Given the description of an element on the screen output the (x, y) to click on. 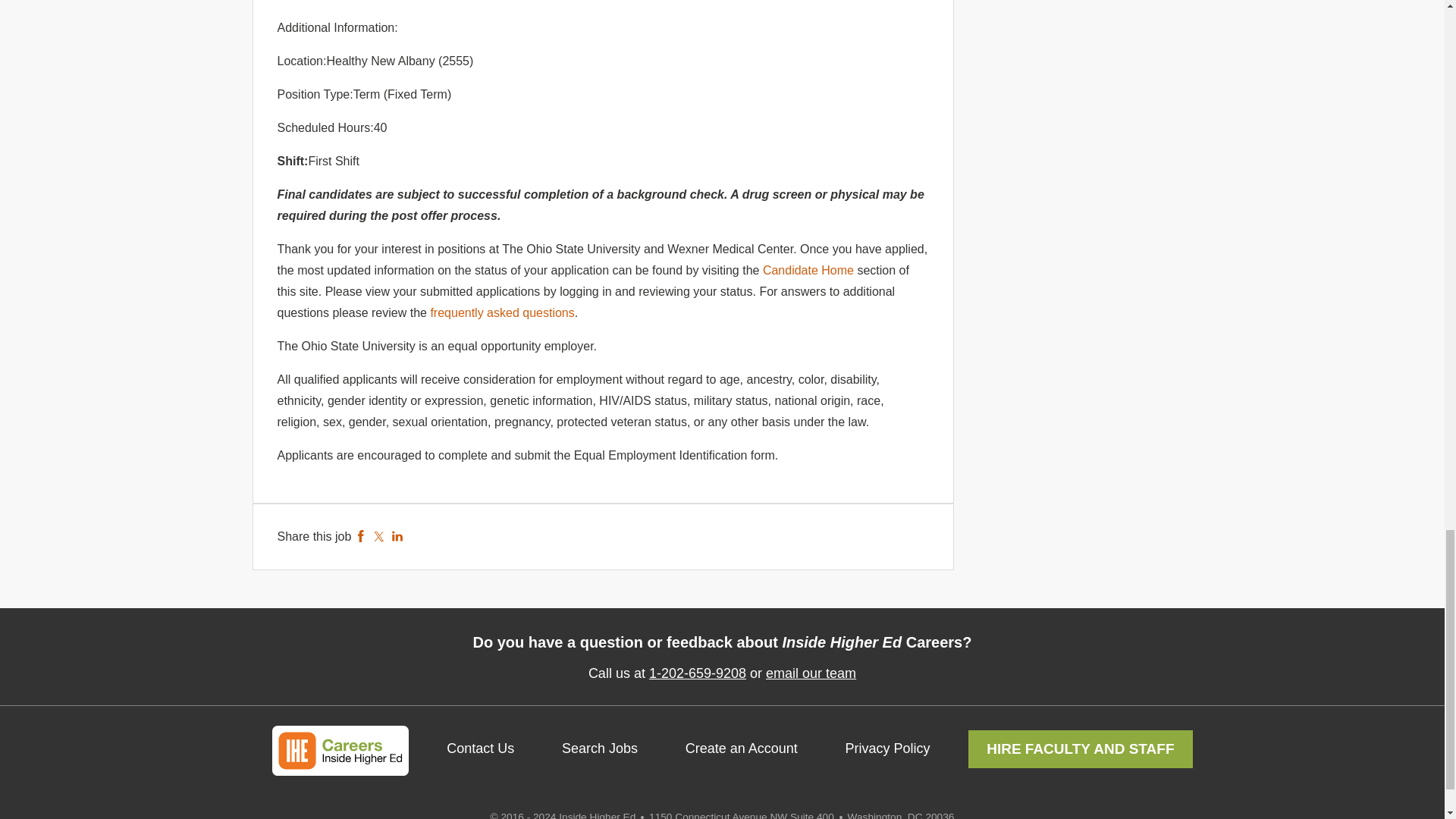
Candidate Home (807, 269)
Inside Higher Ed Careers (338, 750)
Facebook (360, 535)
LinkedIn (397, 535)
frequently asked questions (501, 312)
Twitter (378, 535)
